Given the description of an element on the screen output the (x, y) to click on. 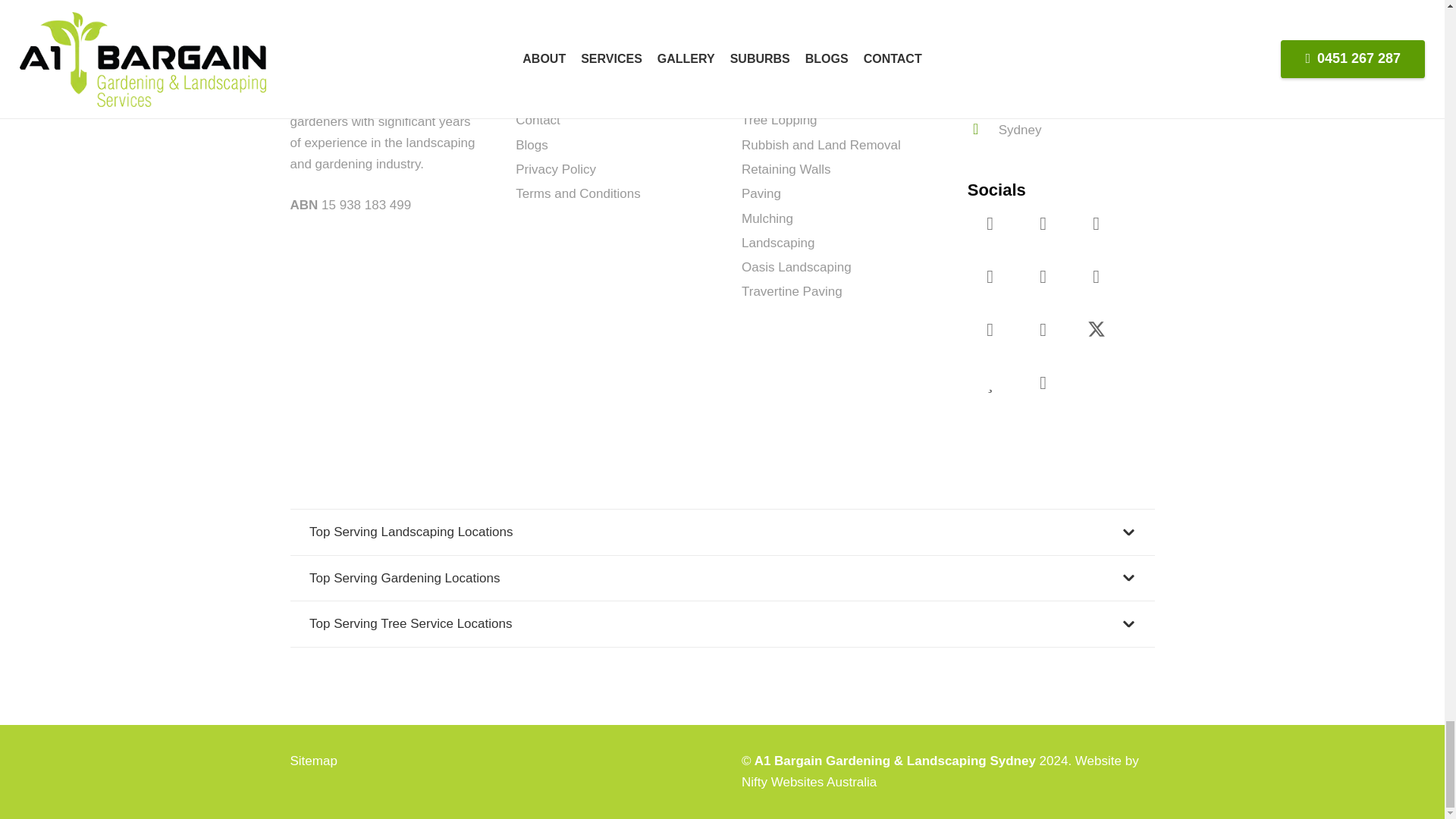
Flickr (990, 276)
LinkedIn (1042, 276)
Tumblr (1042, 329)
Quora (990, 382)
Gallery (535, 71)
Suburbs (539, 95)
About (531, 47)
Facebook (990, 223)
Privacy Policy (555, 169)
Twitter (1096, 329)
Pinterest (1096, 276)
Contact (537, 120)
Linktr.ee (1042, 382)
YouTube (1042, 223)
